Given the description of an element on the screen output the (x, y) to click on. 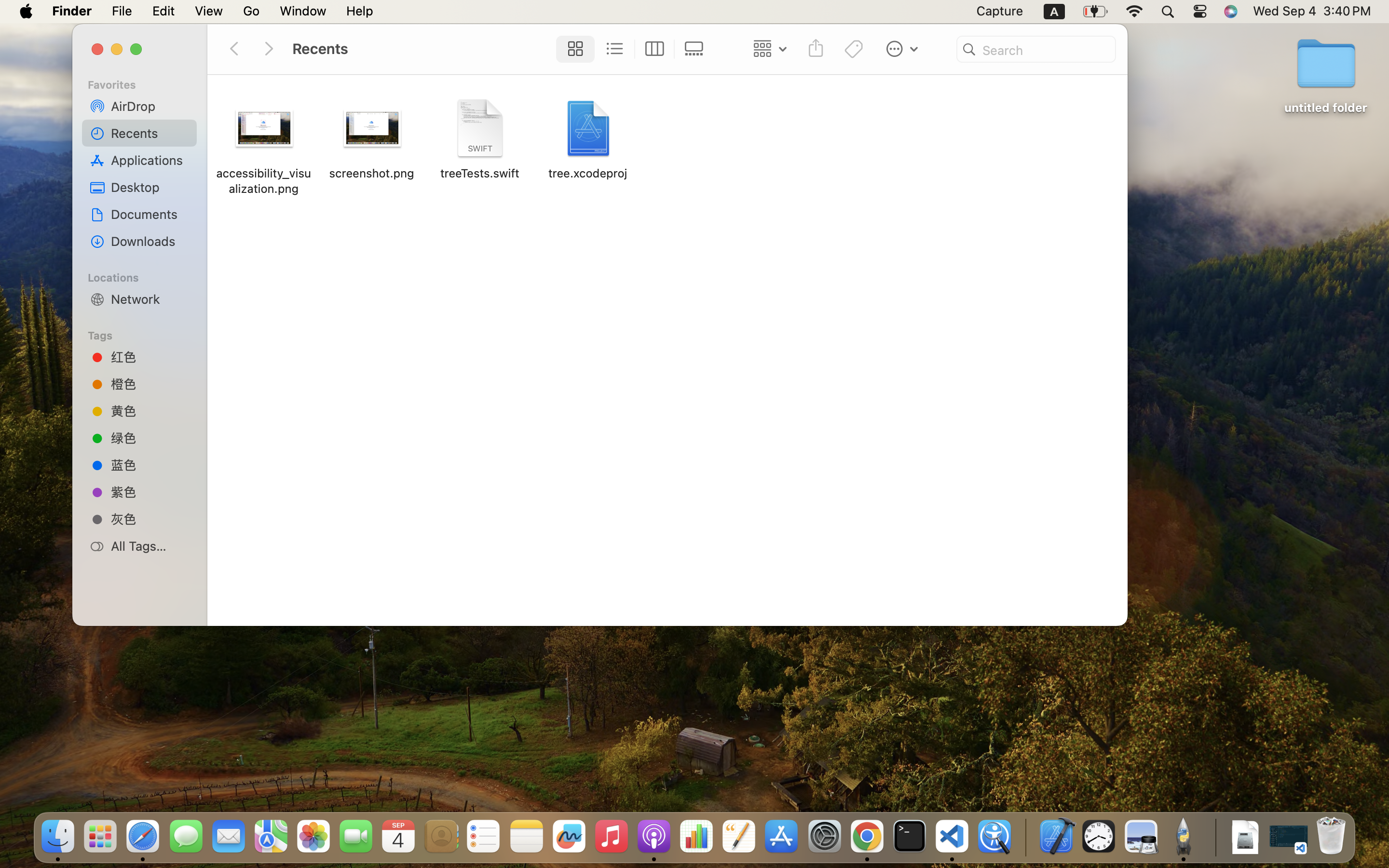
紫色 Element type: AXStaticText (149, 491)
Network Element type: AXStaticText (149, 298)
0 Element type: AXRadioButton (696, 48)
绿色 Element type: AXStaticText (149, 437)
红色 Element type: AXStaticText (149, 356)
